Given the description of an element on the screen output the (x, y) to click on. 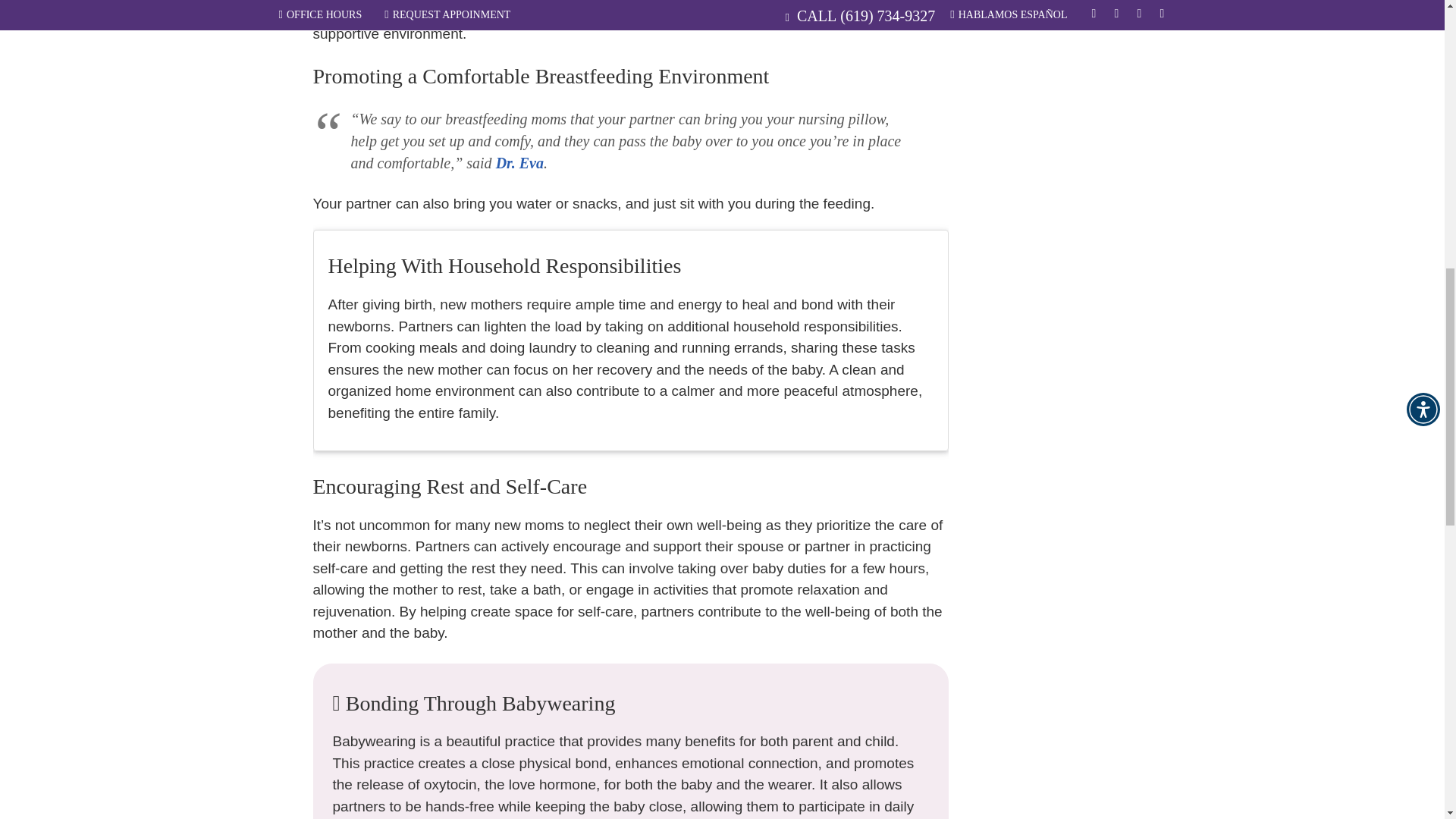
Dr. Eva (519, 162)
